Given the description of an element on the screen output the (x, y) to click on. 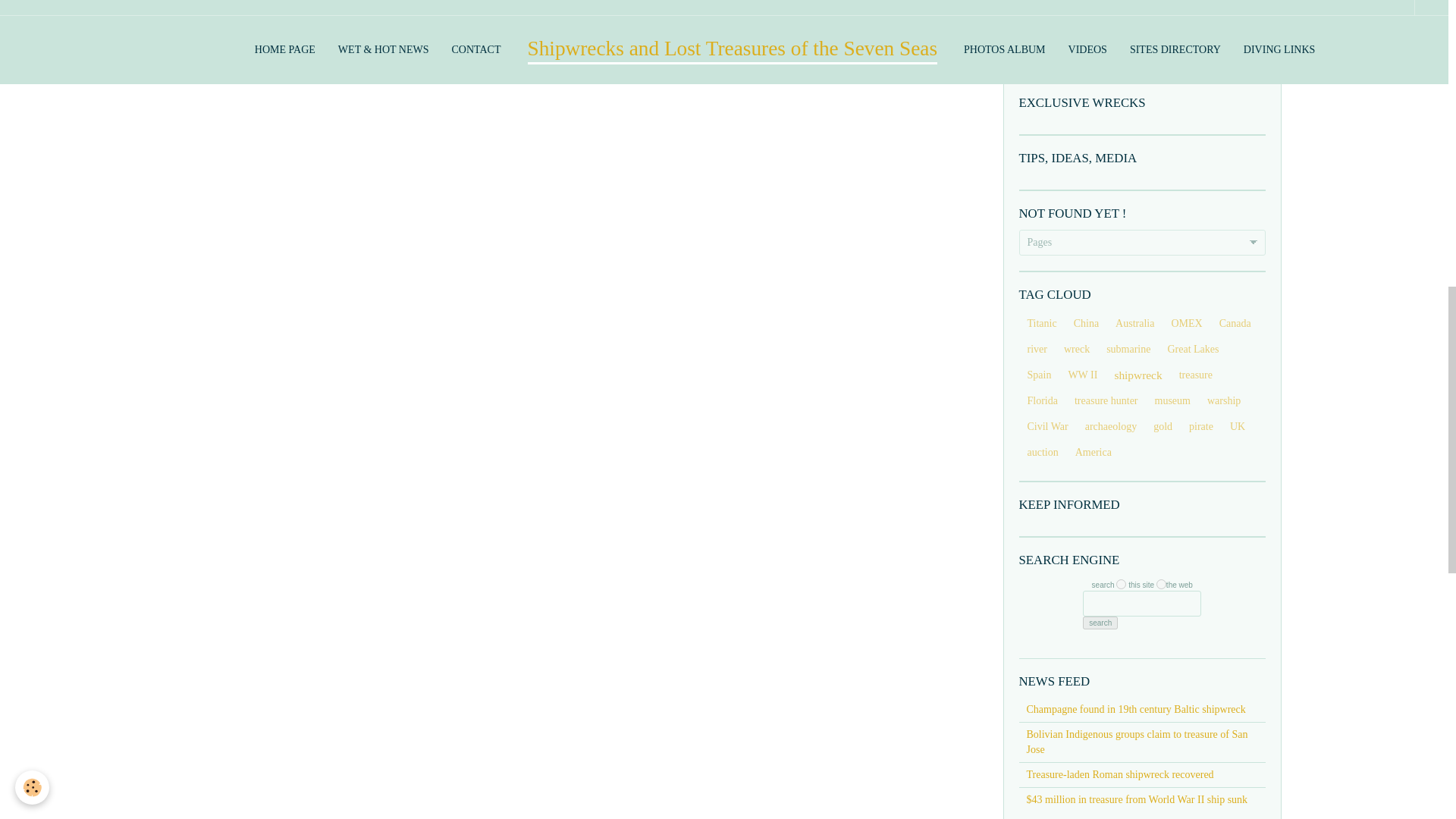
s (1120, 583)
Great Lakes (1192, 349)
OMEX (1185, 323)
WW II (1082, 375)
river (1037, 349)
EXCLUSIVE WRECKS (1142, 103)
TIPS, IDEAS, MEDIA (1142, 158)
UNTOLD TREASURES (1142, 48)
China (1085, 323)
Spain (1039, 375)
wreck (1076, 349)
search (1100, 622)
Titanic (1042, 323)
shipwreck (1137, 375)
submarine (1127, 349)
